Given the description of an element on the screen output the (x, y) to click on. 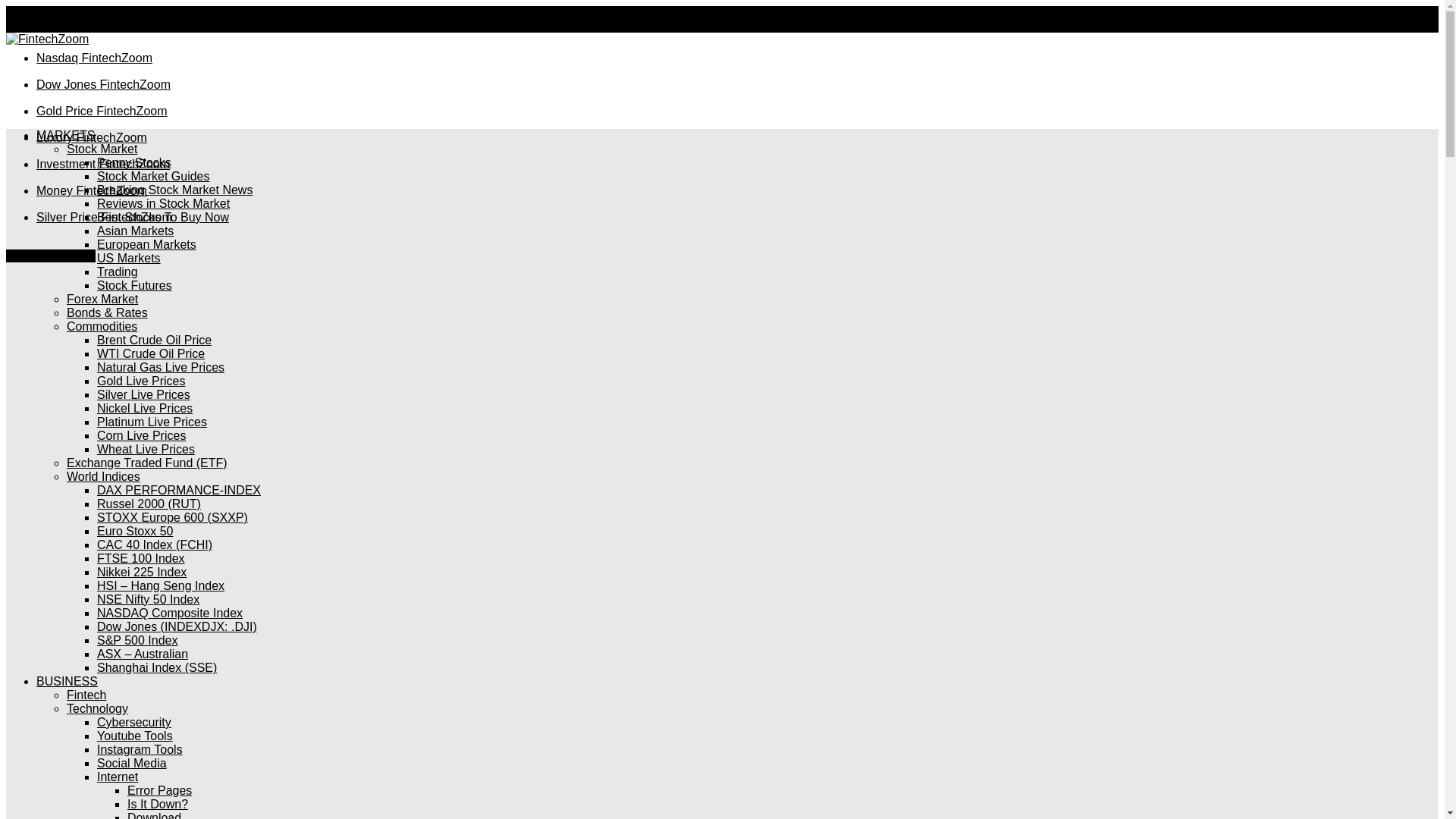
Nasdaq FintechZoom (94, 57)
Commodities (101, 326)
European Markets (146, 244)
World Indices (102, 476)
Luxury FintechZoom (91, 137)
Asian Markets (135, 230)
Euro Stoxx 50 (135, 530)
Dow Jones FintechZoom (103, 83)
Stock Market Guides (153, 175)
Gold Price FintechZoom (101, 110)
Forex Market (102, 298)
Reviews in Stock Market (163, 203)
Silver Live Prices (143, 394)
MARKETS (65, 134)
Brent Crude Oil Price (154, 339)
